Given the description of an element on the screen output the (x, y) to click on. 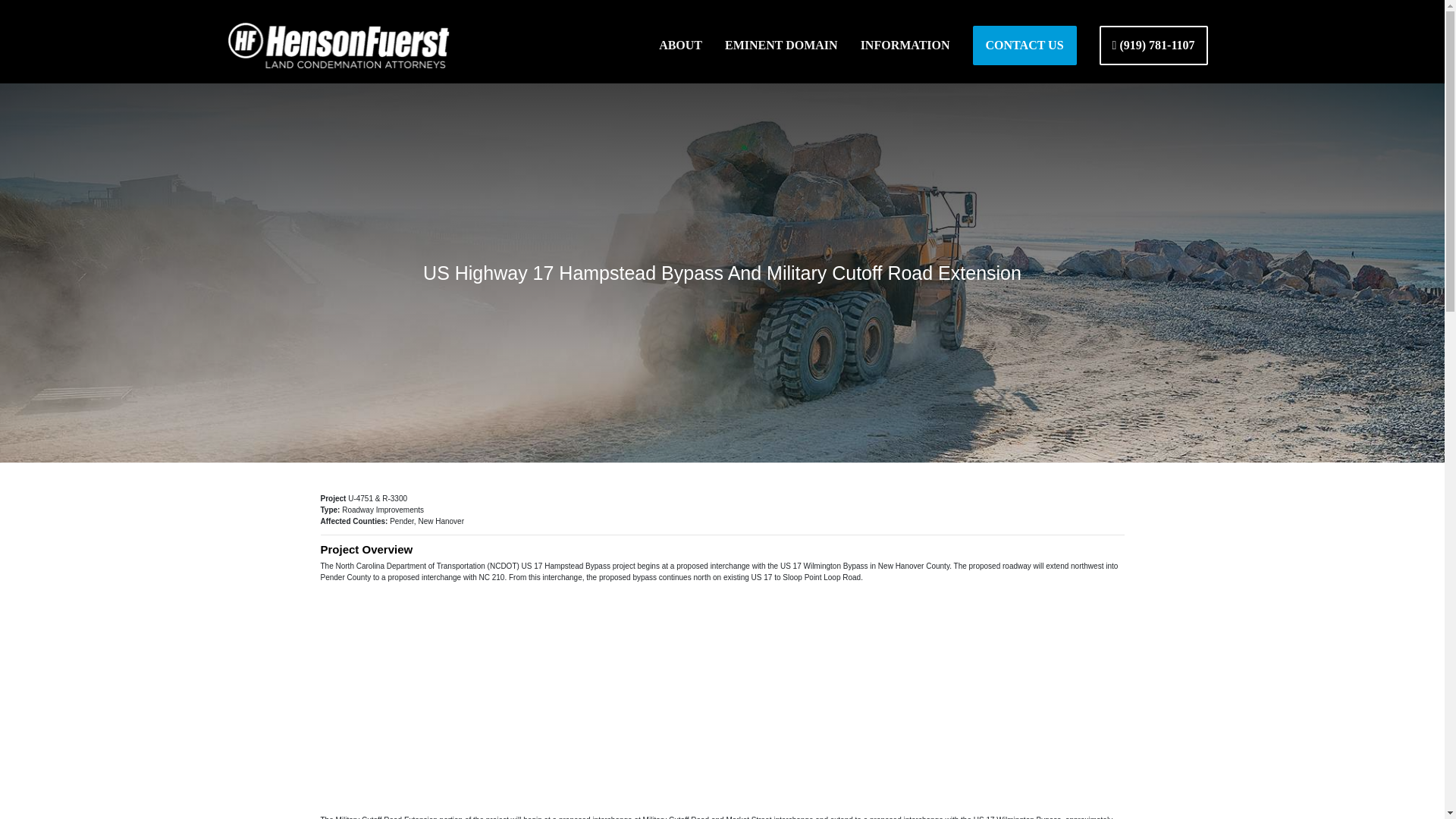
CONTACT US (1024, 45)
ABOUT (680, 44)
EMINENT DOMAIN (780, 44)
INFORMATION (904, 44)
henson-ncland-nav-logo-2 (338, 44)
